Given the description of an element on the screen output the (x, y) to click on. 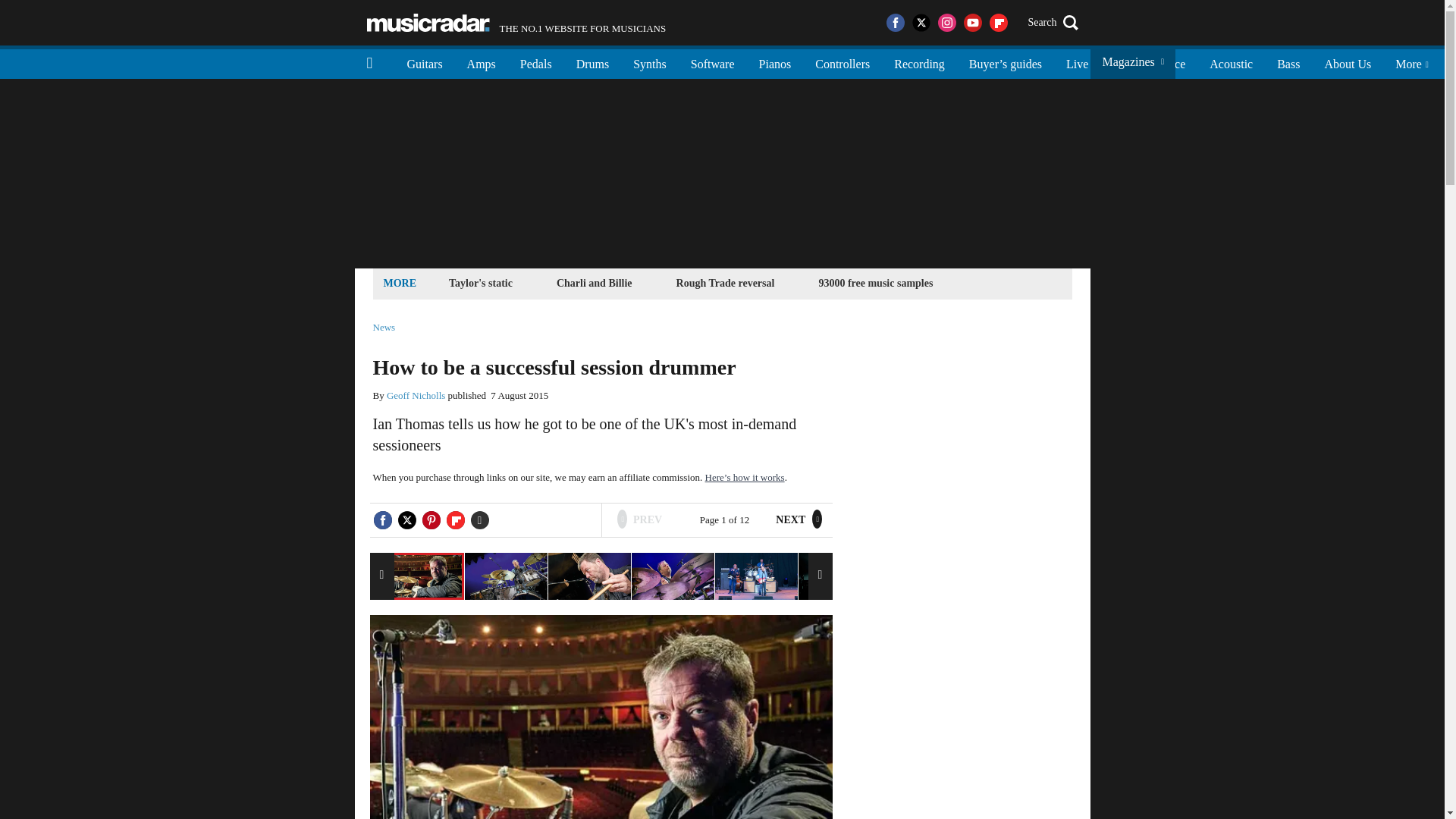
Bass (1288, 61)
Controllers (842, 61)
93000 free music samples (874, 282)
Charli and Billie (594, 282)
Drums (592, 61)
Geoff Nicholls (416, 395)
Synths (649, 61)
Music Radar (427, 22)
Guitars (516, 22)
